Given the description of an element on the screen output the (x, y) to click on. 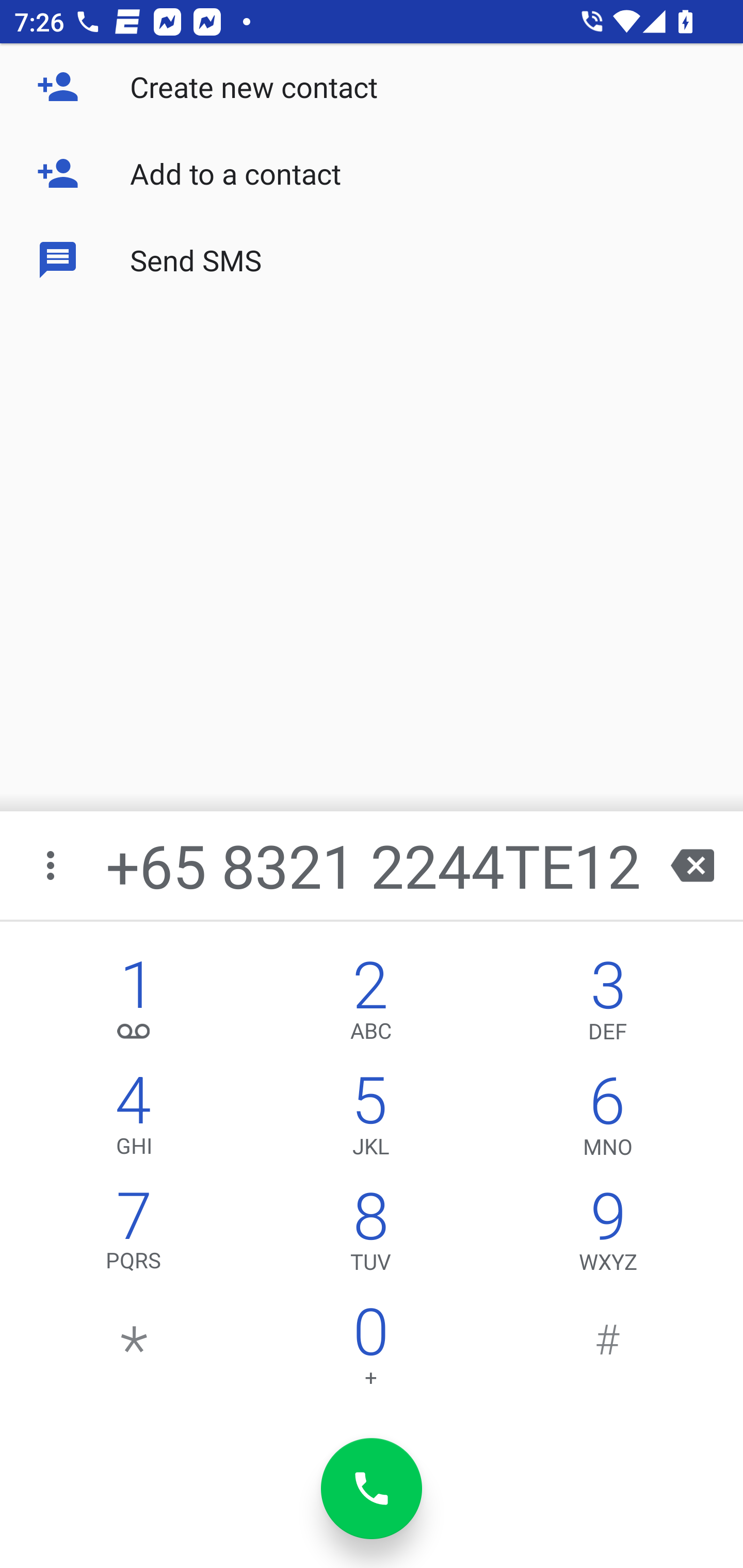
Create new contact (371, 86)
Add to a contact (371, 173)
Send SMS (371, 259)
+65 8321 2244TE12 (372, 865)
backspace (692, 865)
More options (52, 865)
1, 1 (133, 1005)
2,ABC 2 ABC (370, 1005)
3,DEF 3 DEF (607, 1005)
4,GHI 4 GHI (133, 1120)
5,JKL 5 JKL (370, 1120)
6,MNO 6 MNO (607, 1120)
7,PQRS 7 PQRS (133, 1235)
8,TUV 8 TUV (370, 1235)
9,WXYZ 9 WXYZ (607, 1235)
* (133, 1351)
0 0 + (370, 1351)
# (607, 1351)
dial (371, 1488)
